Given the description of an element on the screen output the (x, y) to click on. 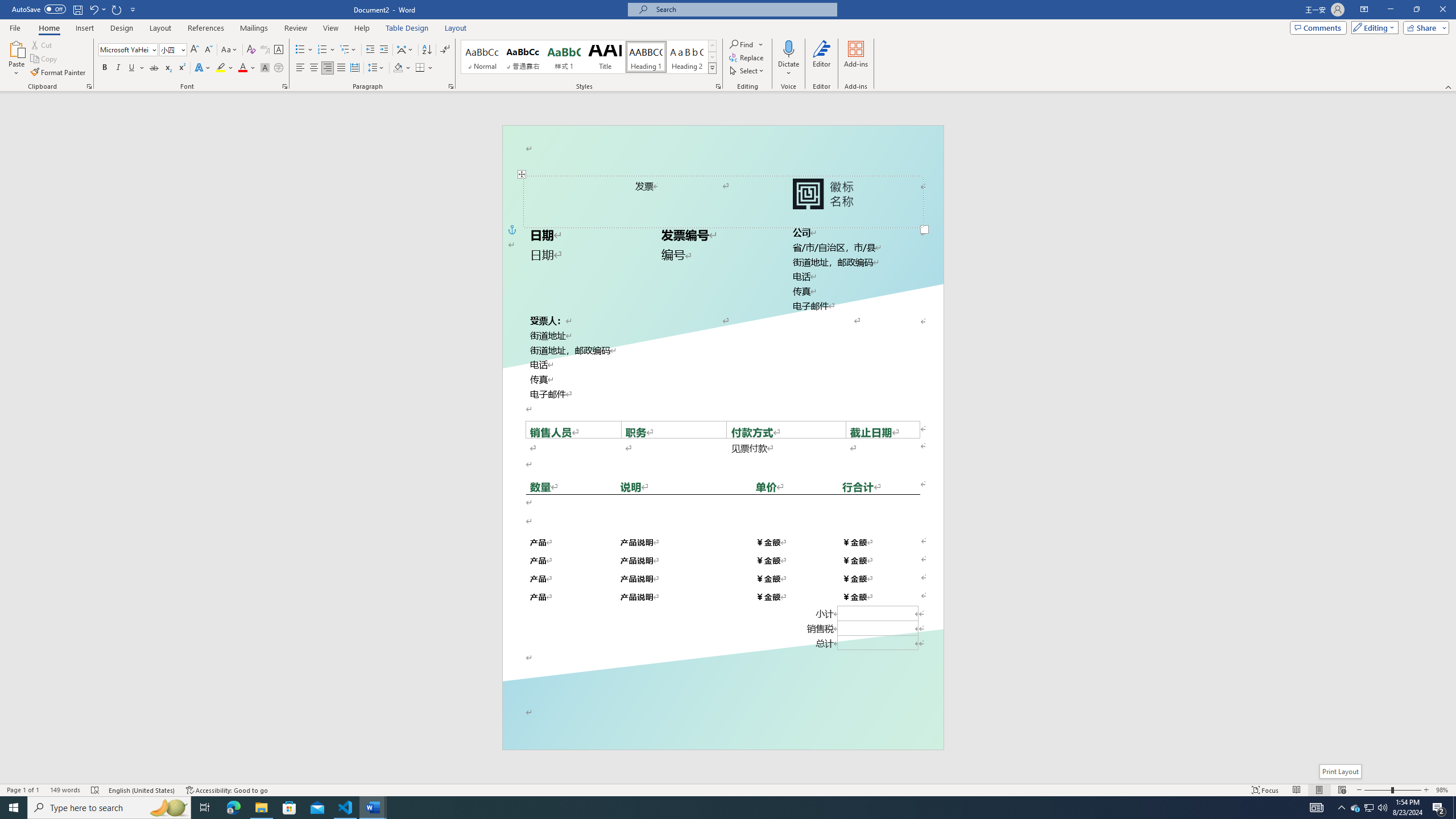
Align Right (327, 67)
Mode (1372, 27)
Clear Formatting (250, 49)
Copy (45, 58)
Microsoft search (742, 9)
Page Number Page 1 of 1 (22, 790)
Undo Apply Quick Style (96, 9)
First Page Footer -Section 1- (722, 723)
Heading 1 (646, 56)
Row up (711, 45)
